Given the description of an element on the screen output the (x, y) to click on. 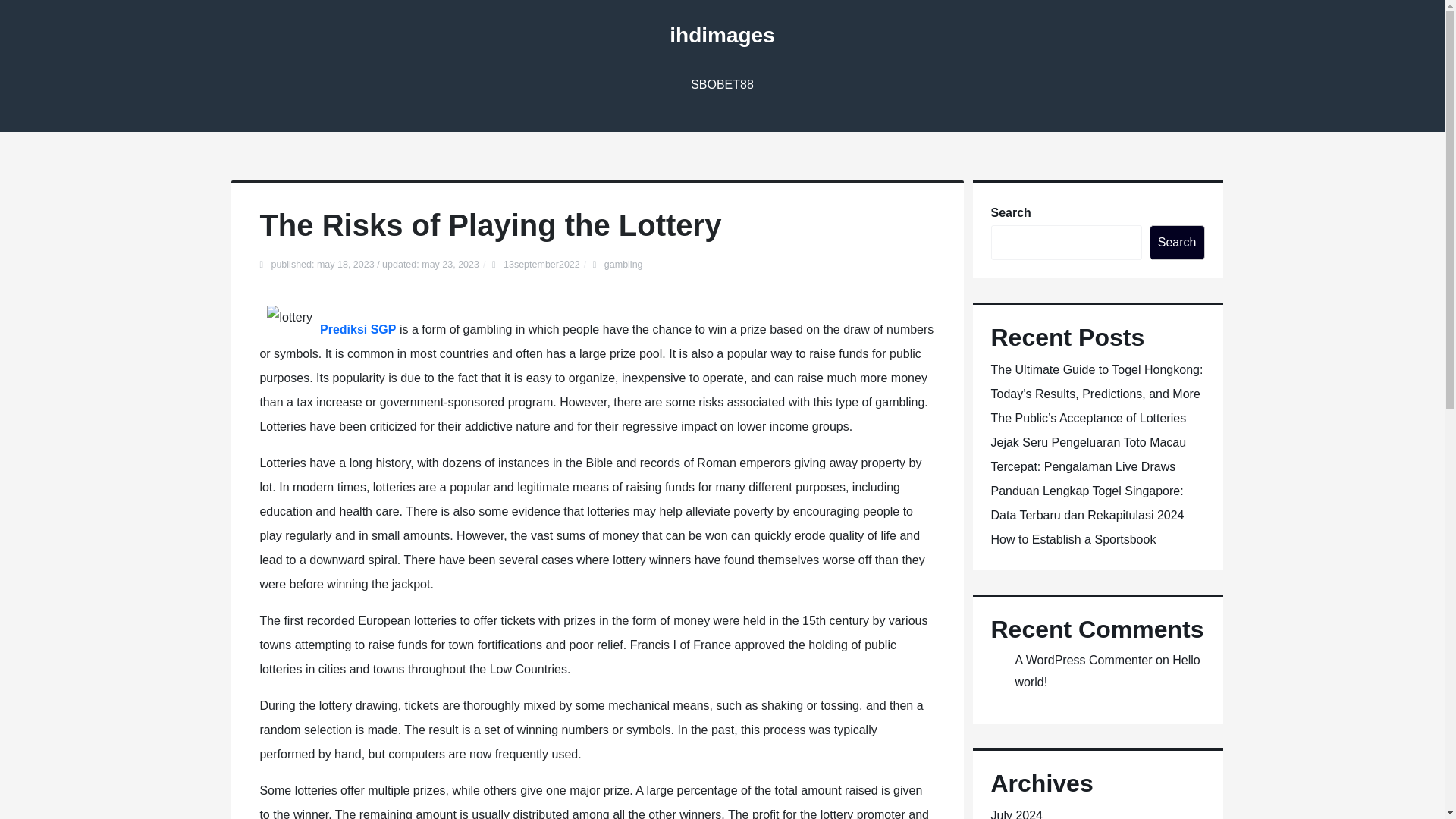
July 2024 (1016, 814)
SBOBET88 (722, 84)
Hello world! (1106, 670)
SBOBET88 (722, 84)
How to Establish a Sportsbook (1073, 539)
A WordPress Commenter (1082, 659)
13september2022 (541, 264)
ihdimages (721, 34)
Search (1177, 242)
Prediksi SGP (358, 328)
gambling (623, 264)
